Given the description of an element on the screen output the (x, y) to click on. 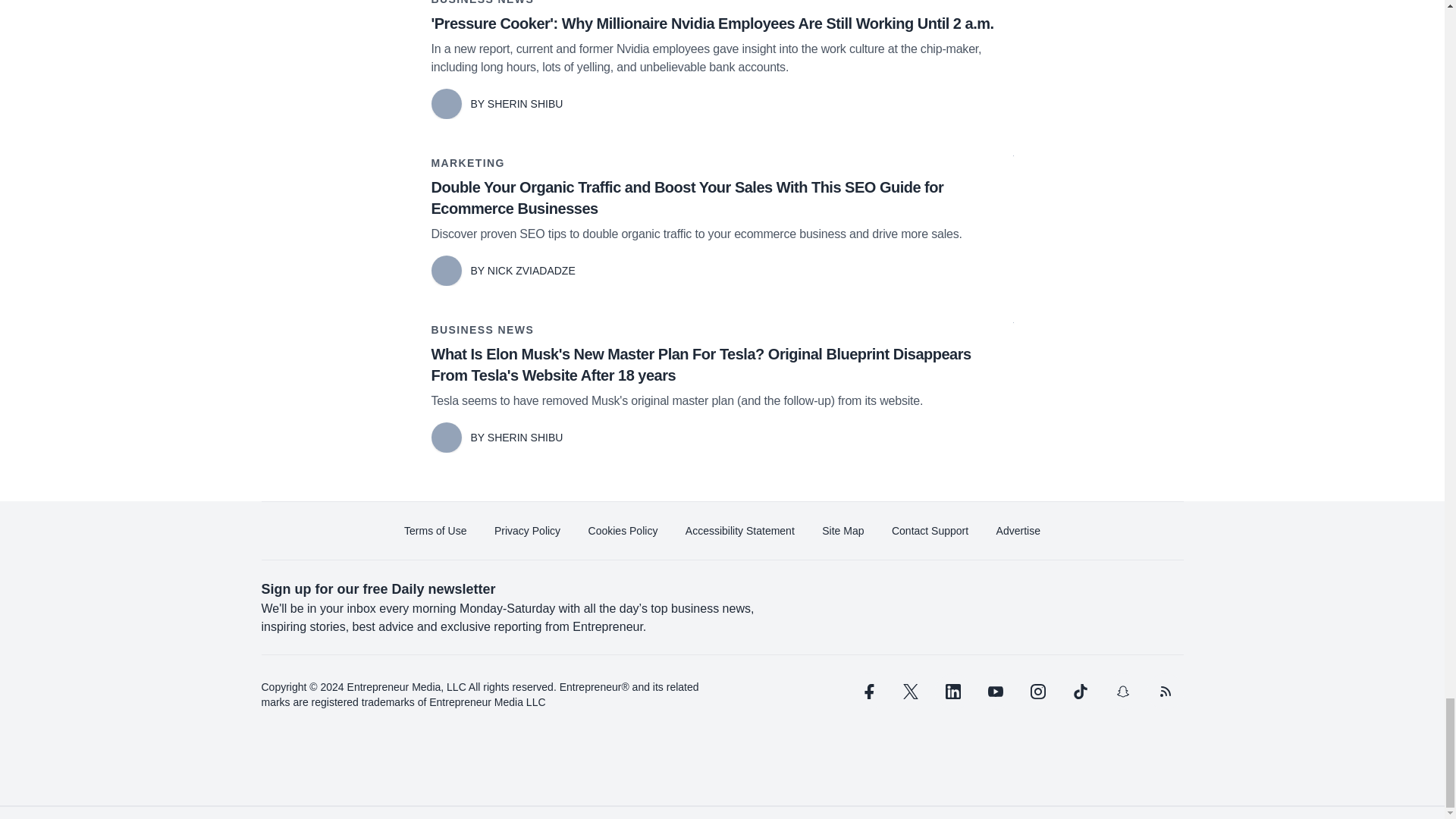
snapchat (1121, 691)
youtube (994, 691)
twitter (909, 691)
tiktok (1079, 691)
instagram (1037, 691)
facebook (866, 691)
linkedin (952, 691)
